Given the description of an element on the screen output the (x, y) to click on. 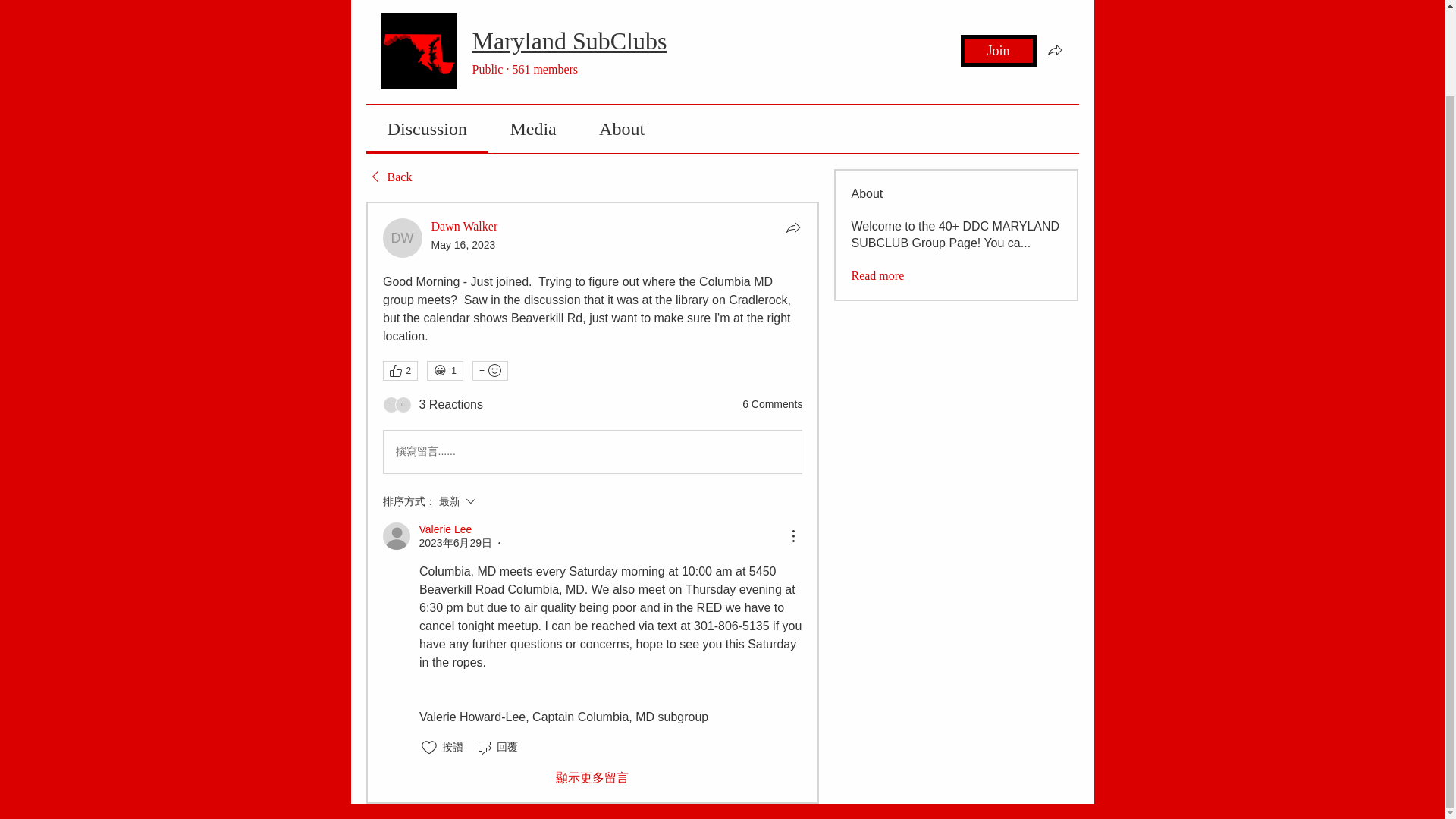
Cassandra Belton (402, 404)
Tracey Bogans Hobbs (389, 404)
Dawn Walker (401, 237)
